Given the description of an element on the screen output the (x, y) to click on. 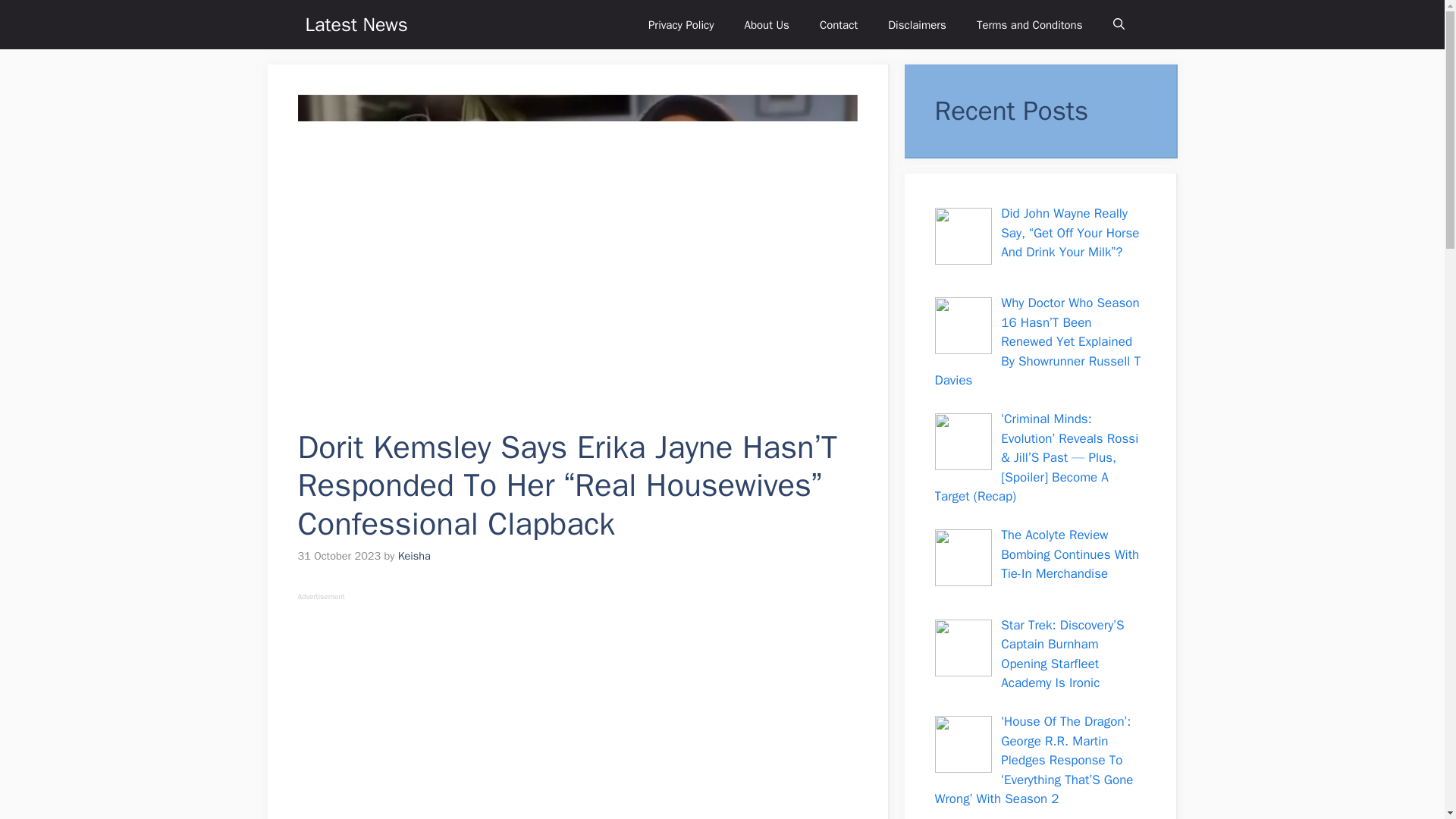
The Acolyte Review Bombing Continues With Tie-In Merchandise (1069, 554)
View all posts by Keisha (413, 555)
Terms and Conditons (1028, 23)
Contact (838, 23)
About Us (767, 23)
Disclaimers (916, 23)
Privacy Policy (681, 23)
Latest News (355, 24)
Keisha (413, 555)
